Given the description of an element on the screen output the (x, y) to click on. 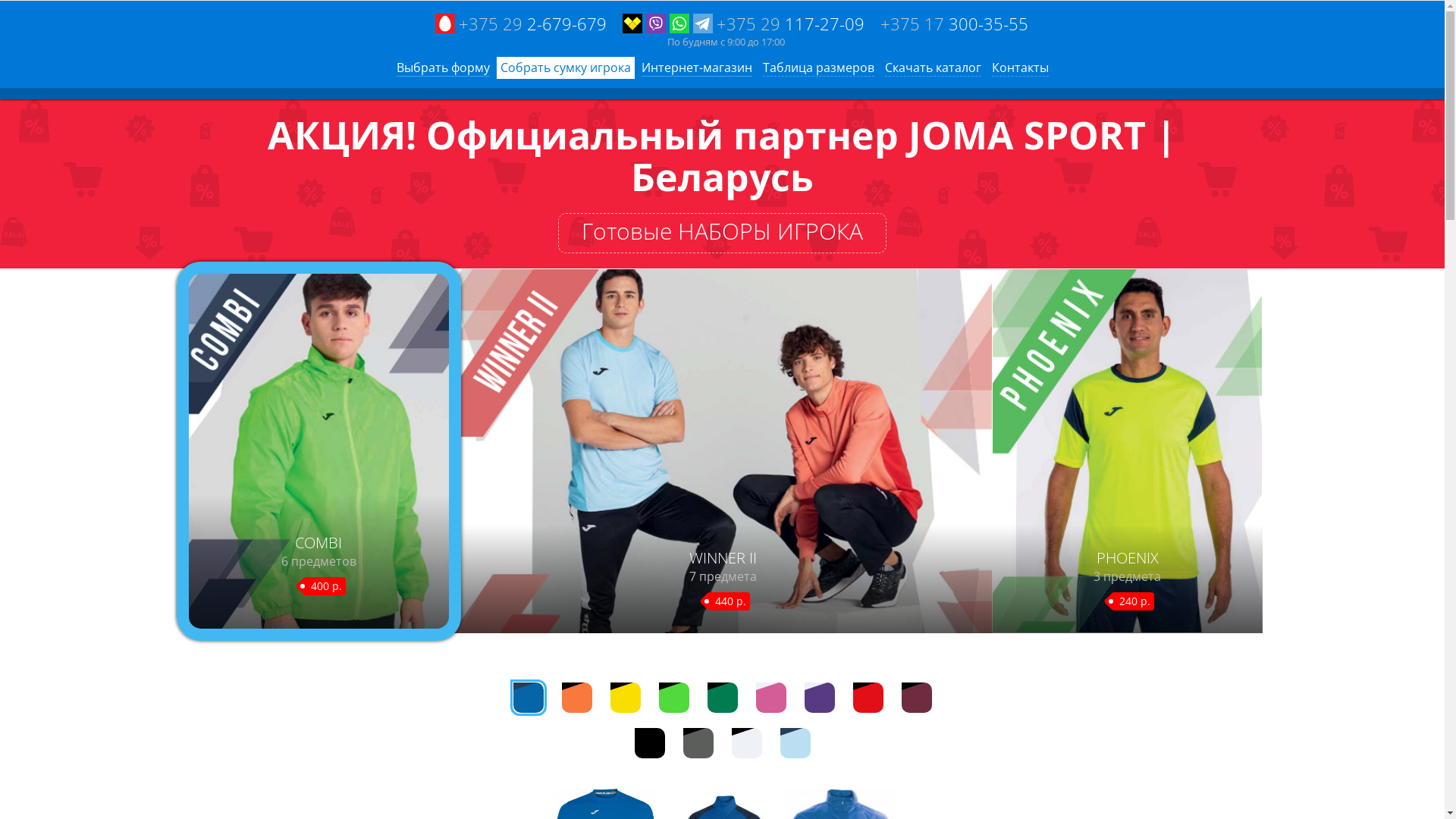
+375 29 117-27-09 Element type: text (743, 23)
+375 17 300-35-55 Element type: text (954, 23)
+375 29 2-679-679 Element type: text (520, 23)
